Given the description of an element on the screen output the (x, y) to click on. 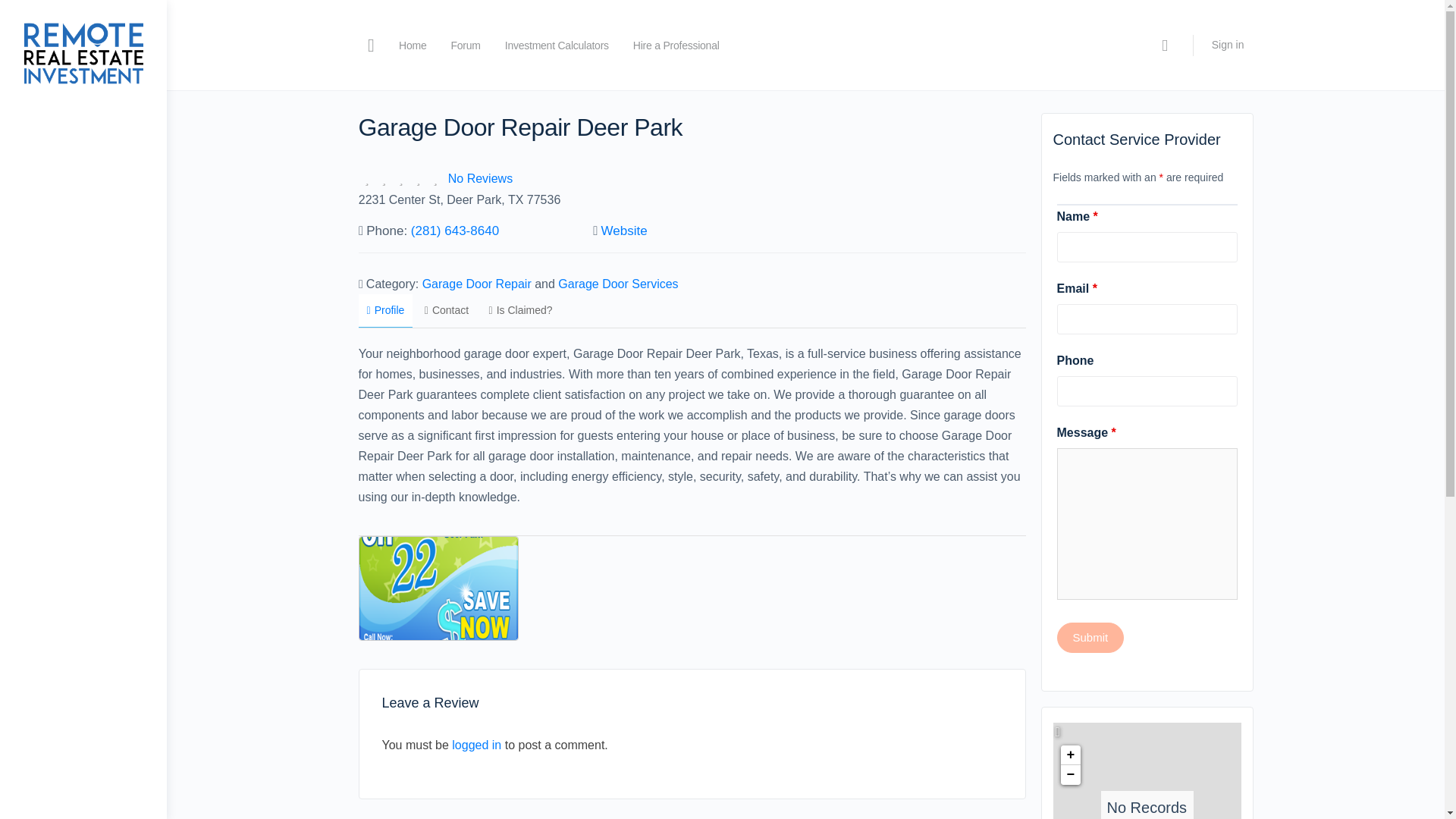
Profile (385, 310)
No rating yet! (401, 179)
Zoom in (1069, 754)
No Reviews (480, 178)
Zoom out (1069, 774)
Sign in (1227, 44)
Contact (446, 310)
logged in (475, 744)
Home (412, 45)
Forum (464, 45)
Garage Door Repair (476, 283)
Website (624, 230)
Is Claimed? (520, 310)
Investment Calculators (556, 45)
Hire a Professional (676, 45)
